Given the description of an element on the screen output the (x, y) to click on. 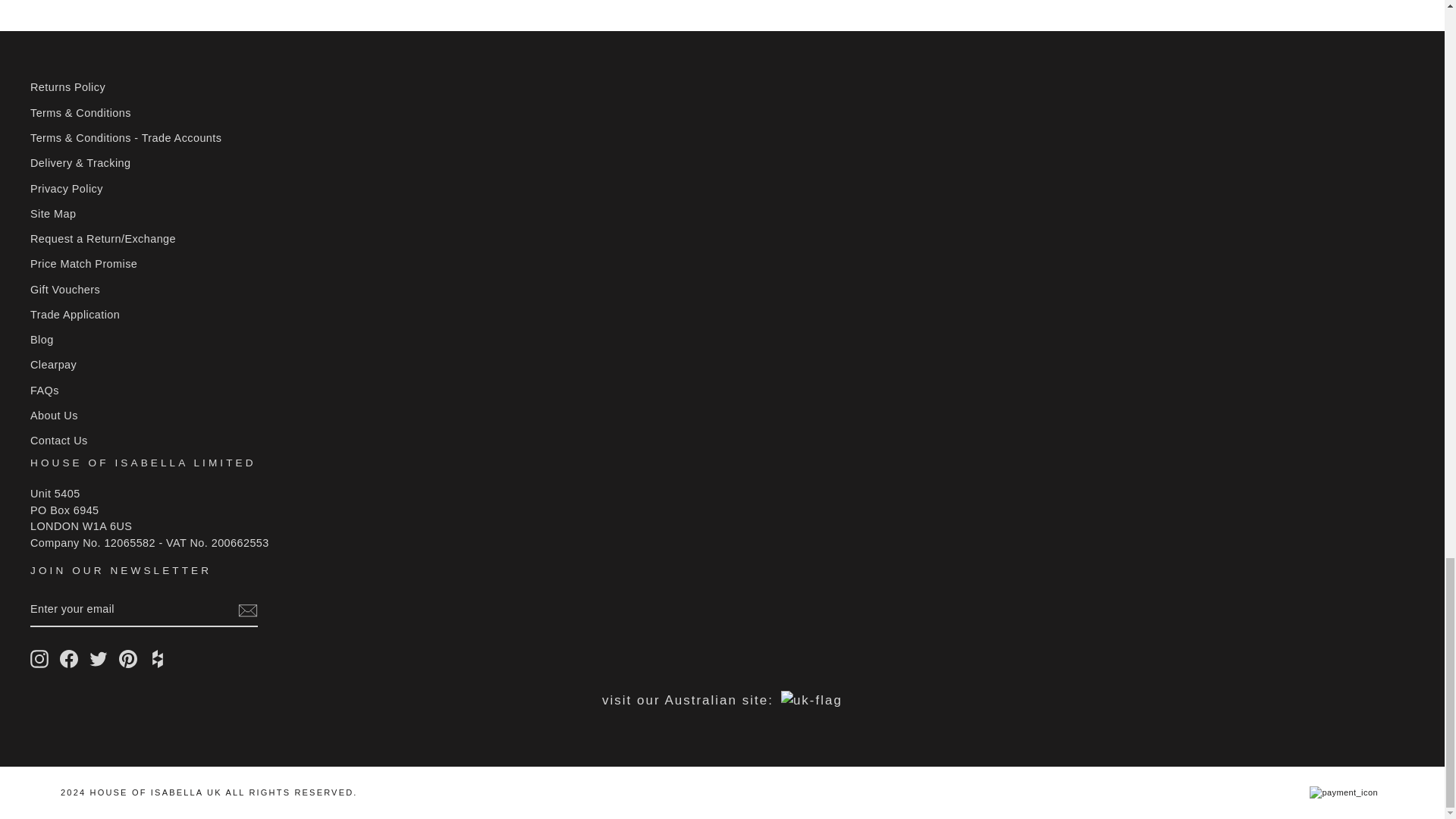
House of Isabella UK on Facebook (68, 659)
House of Isabella UK on Instagram (39, 659)
House of Isabella UK on Twitter (97, 659)
House of Isabella UK on Pinterest (127, 659)
